Given the description of an element on the screen output the (x, y) to click on. 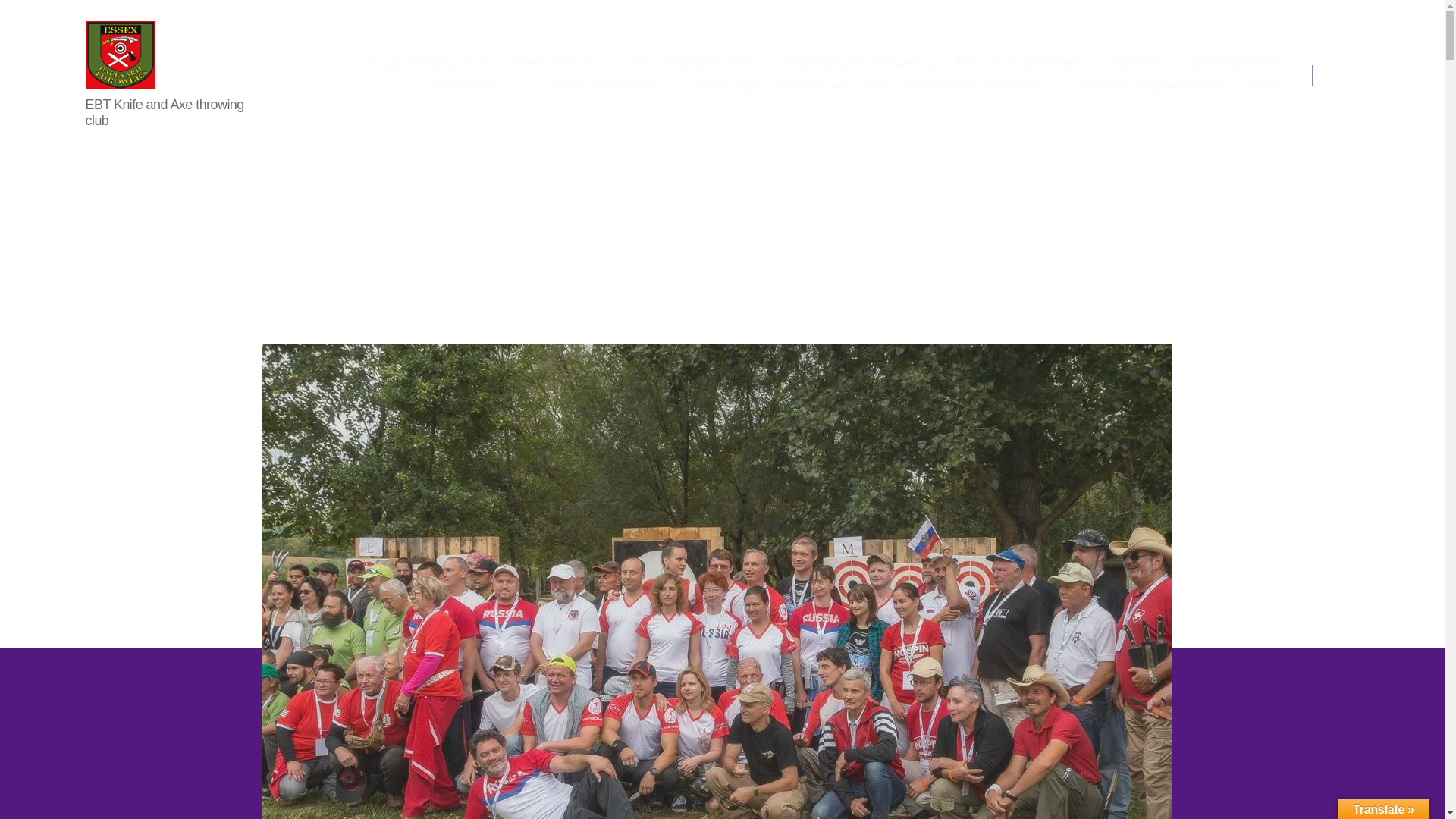
Coutanque (727, 86)
Range Booking Form (426, 63)
Shop (1265, 86)
Knife , Axe and Leather Makers (961, 86)
K.A.T.T.A. Approved Clubs. (1154, 86)
Instructors (1130, 63)
Upcoming Events (1230, 63)
UK Throwing Records (1018, 63)
Search (1350, 74)
File Section (811, 86)
